Given the description of an element on the screen output the (x, y) to click on. 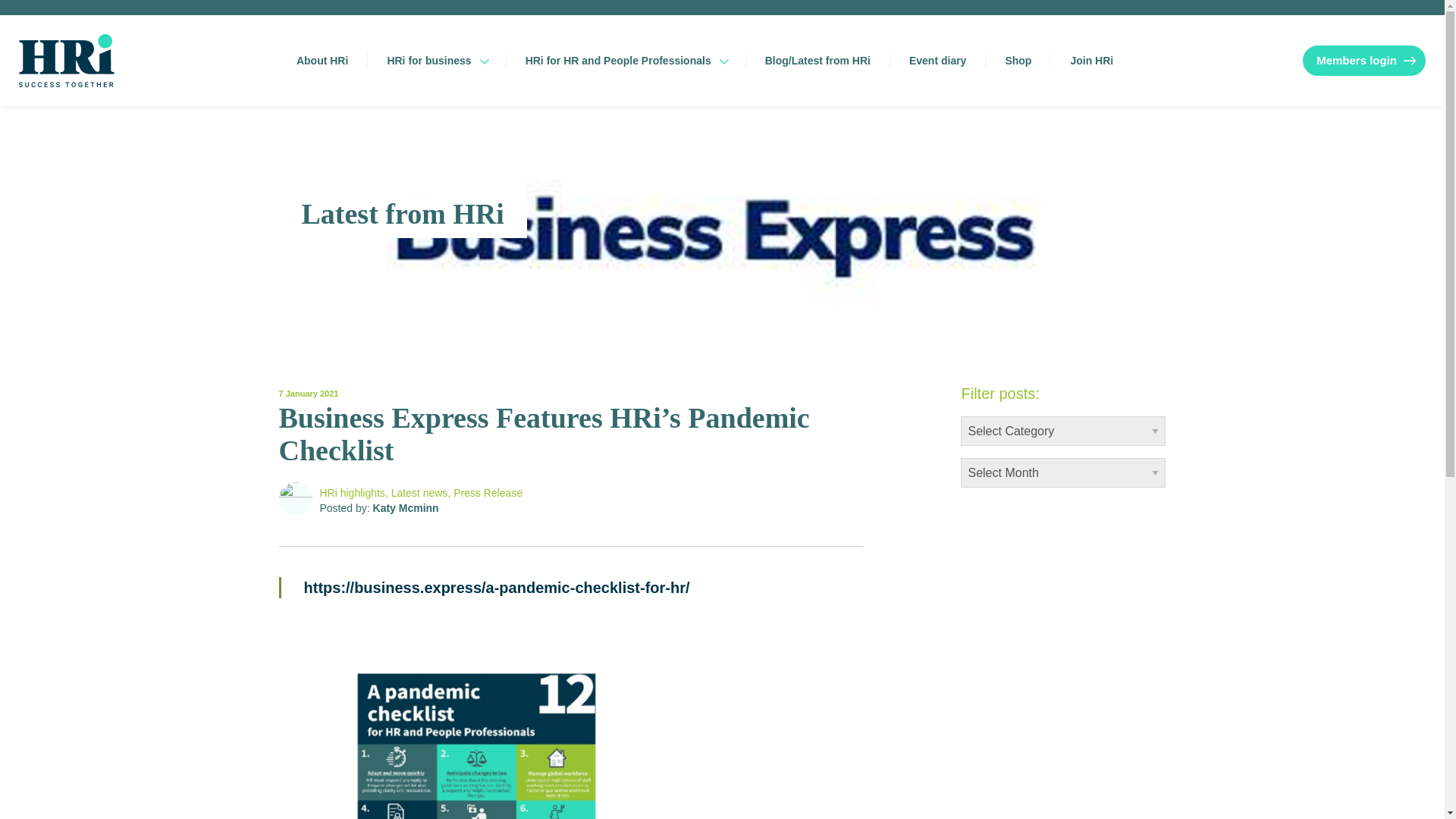
About HRi (322, 60)
Event diary (937, 60)
HRi for HR and People Professionals (617, 60)
Members login (1364, 60)
HRi for business (427, 60)
Join HRi (1090, 60)
Shop (1017, 60)
